Given the description of an element on the screen output the (x, y) to click on. 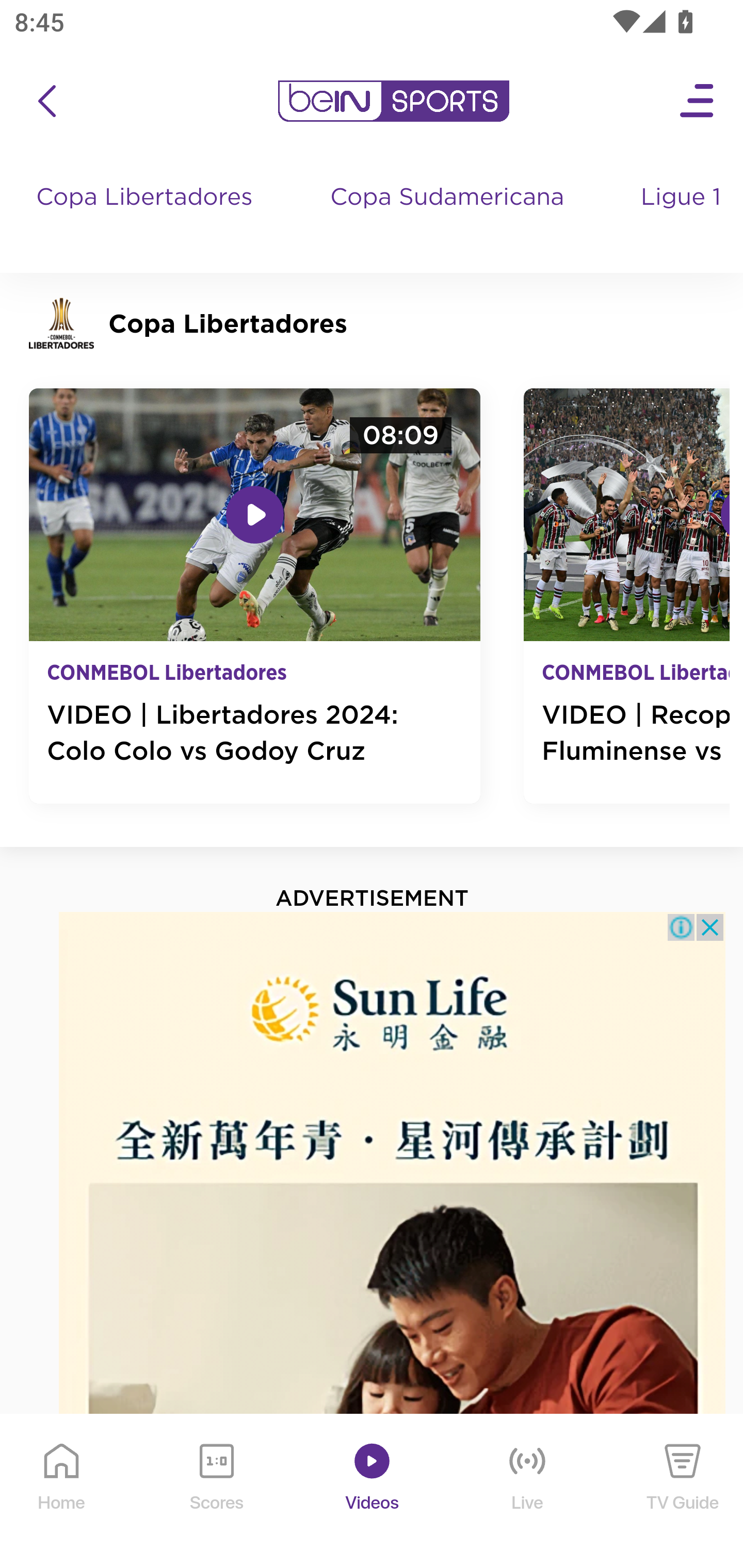
en-us?platform=mobile_android bein logo (392, 101)
icon back (46, 101)
Open Menu Icon (697, 101)
Copa Libertadores (146, 216)
Copa Sudamericana (448, 216)
Ligue 1 (682, 216)
Home Home Icon Home (61, 1491)
Scores Scores Icon Scores (216, 1491)
Videos Videos Icon Videos (372, 1491)
TV Guide TV Guide Icon TV Guide (682, 1491)
